Given the description of an element on the screen output the (x, y) to click on. 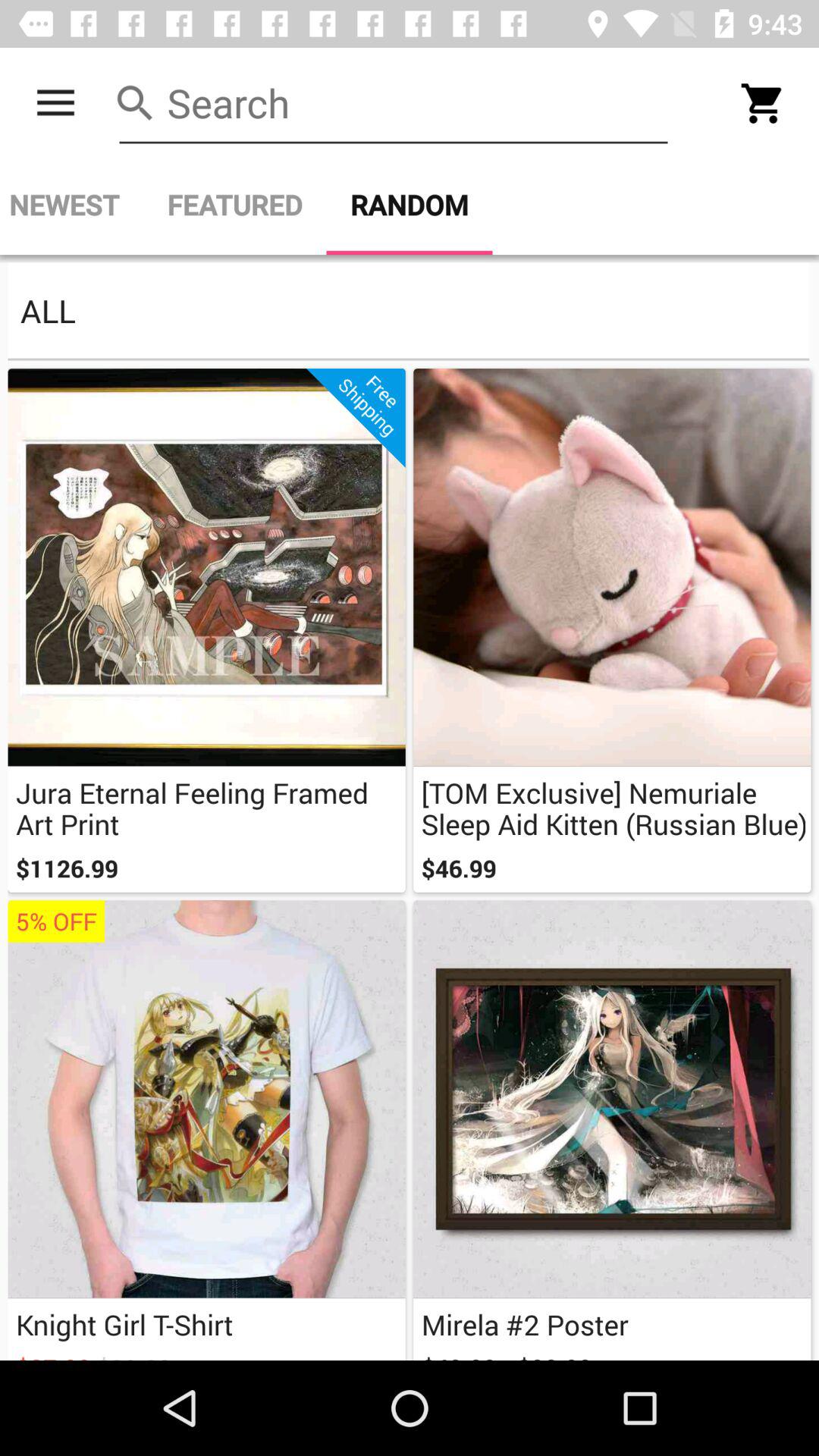
flip to featured icon (234, 204)
